Given the description of an element on the screen output the (x, y) to click on. 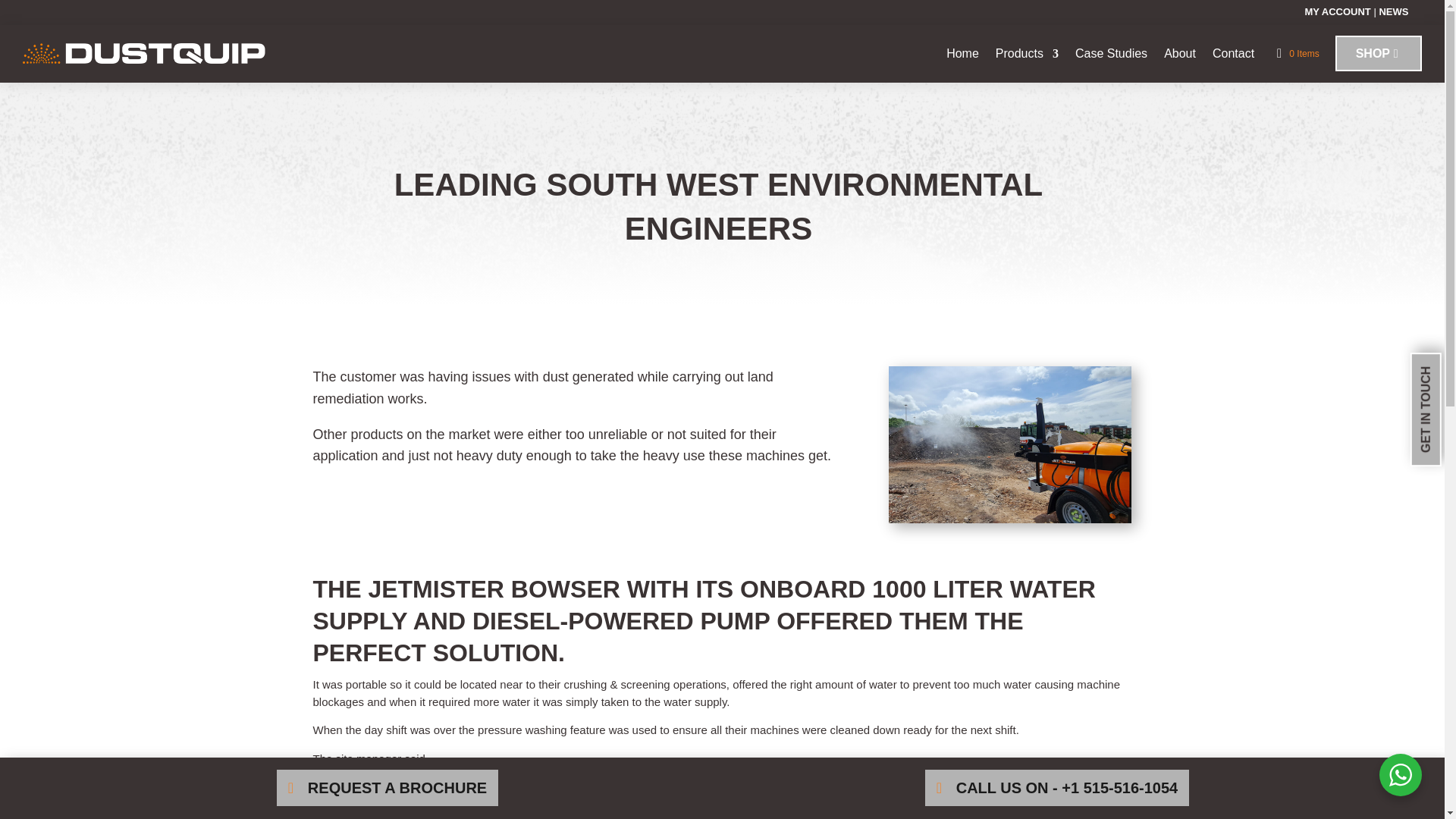
NEWS (1392, 11)
Case Studies (1111, 52)
REQUEST A BROCHURE (386, 787)
Products (1026, 52)
SHOP (1378, 53)
MY ACCOUNT (1337, 11)
Dust Suppression Systems (1026, 52)
Leading South West Environmental Engineers (1009, 444)
